Given the description of an element on the screen output the (x, y) to click on. 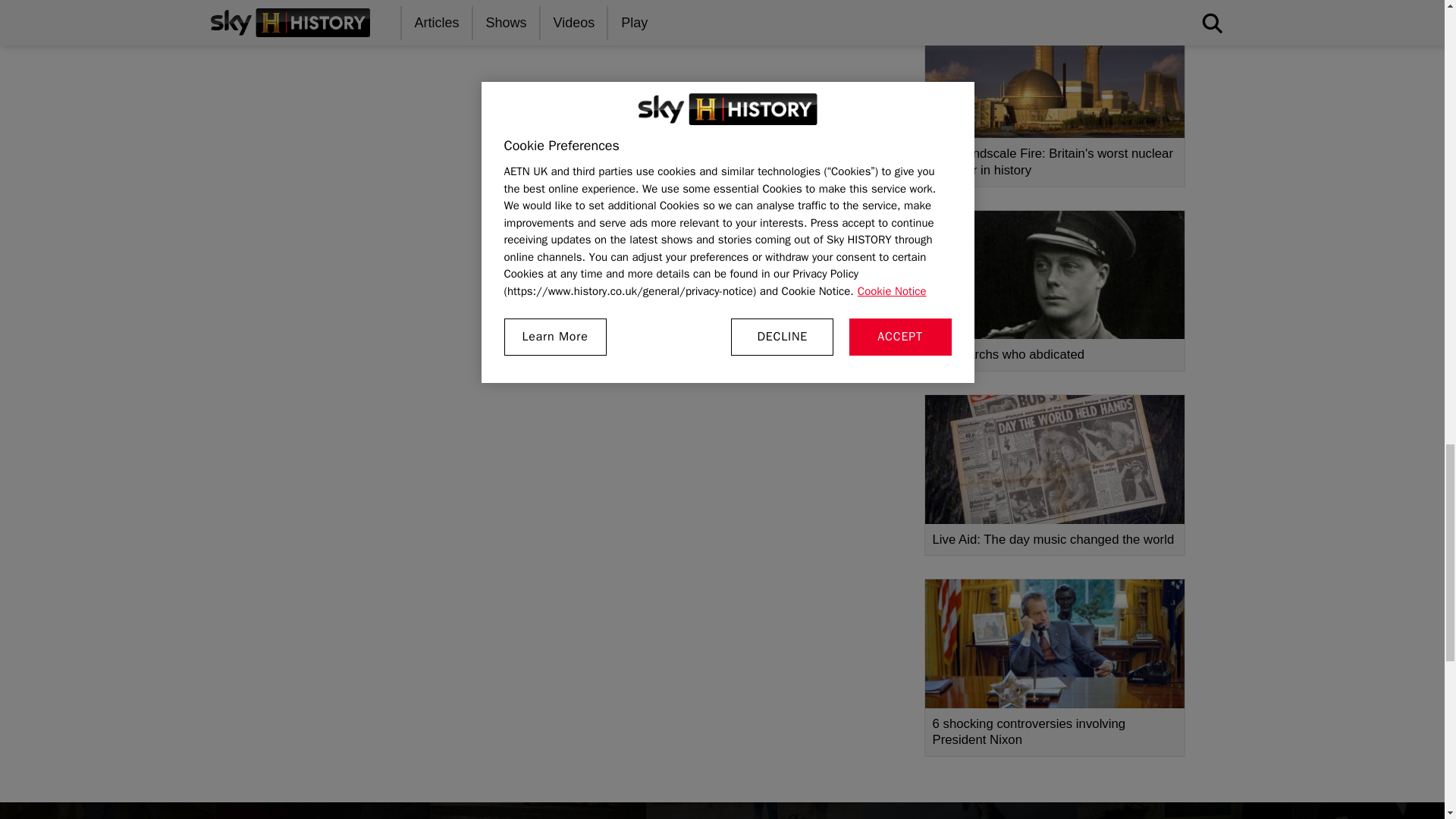
6 monarchs who abdicated (1054, 290)
6 shocking controversies involving President Nixon (1054, 667)
Live Aid: The day music changed the world (1054, 474)
